Given the description of an element on the screen output the (x, y) to click on. 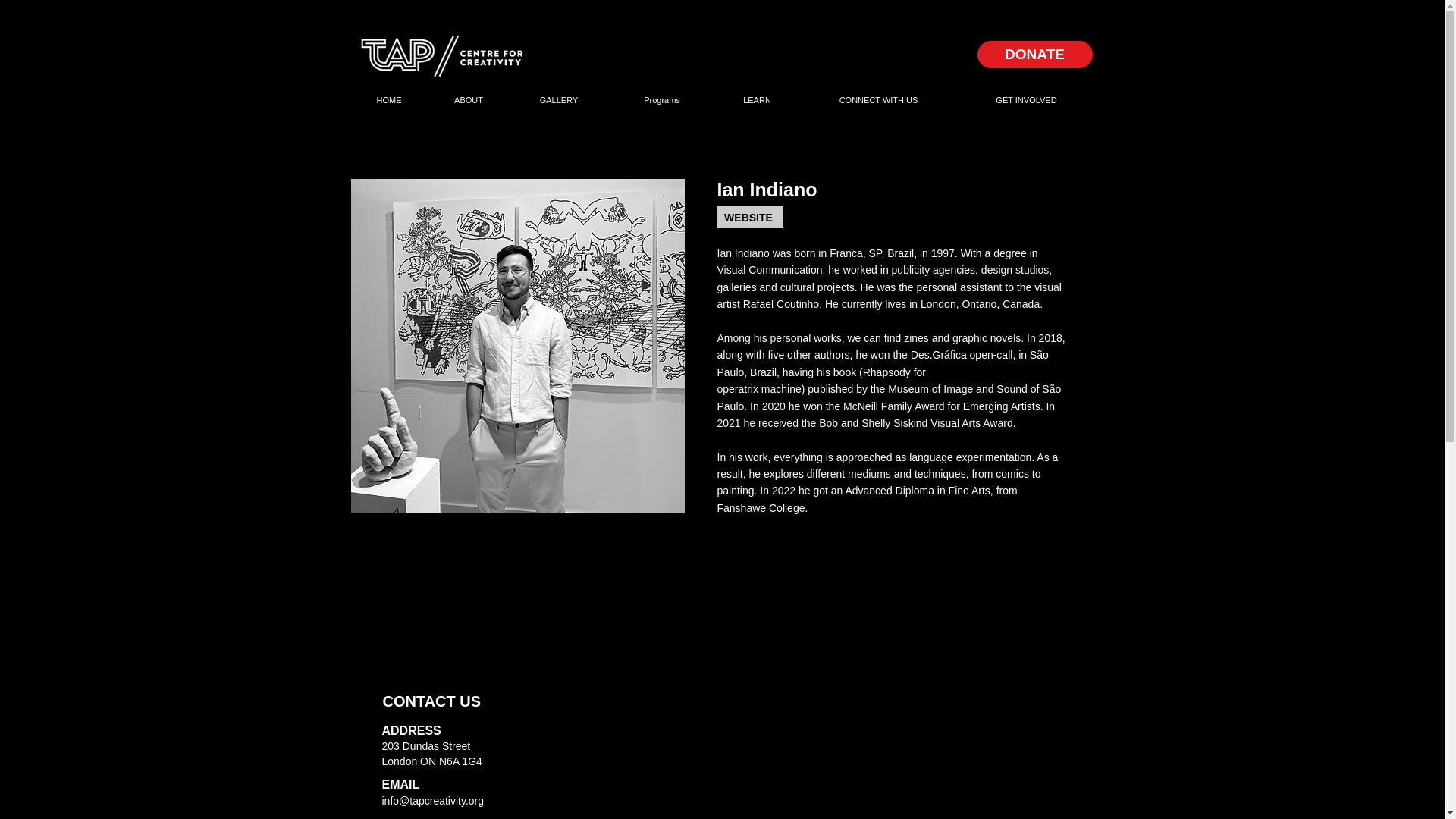
HOME (389, 99)
DONATE (1034, 53)
WEBSITE (750, 217)
